Given the description of an element on the screen output the (x, y) to click on. 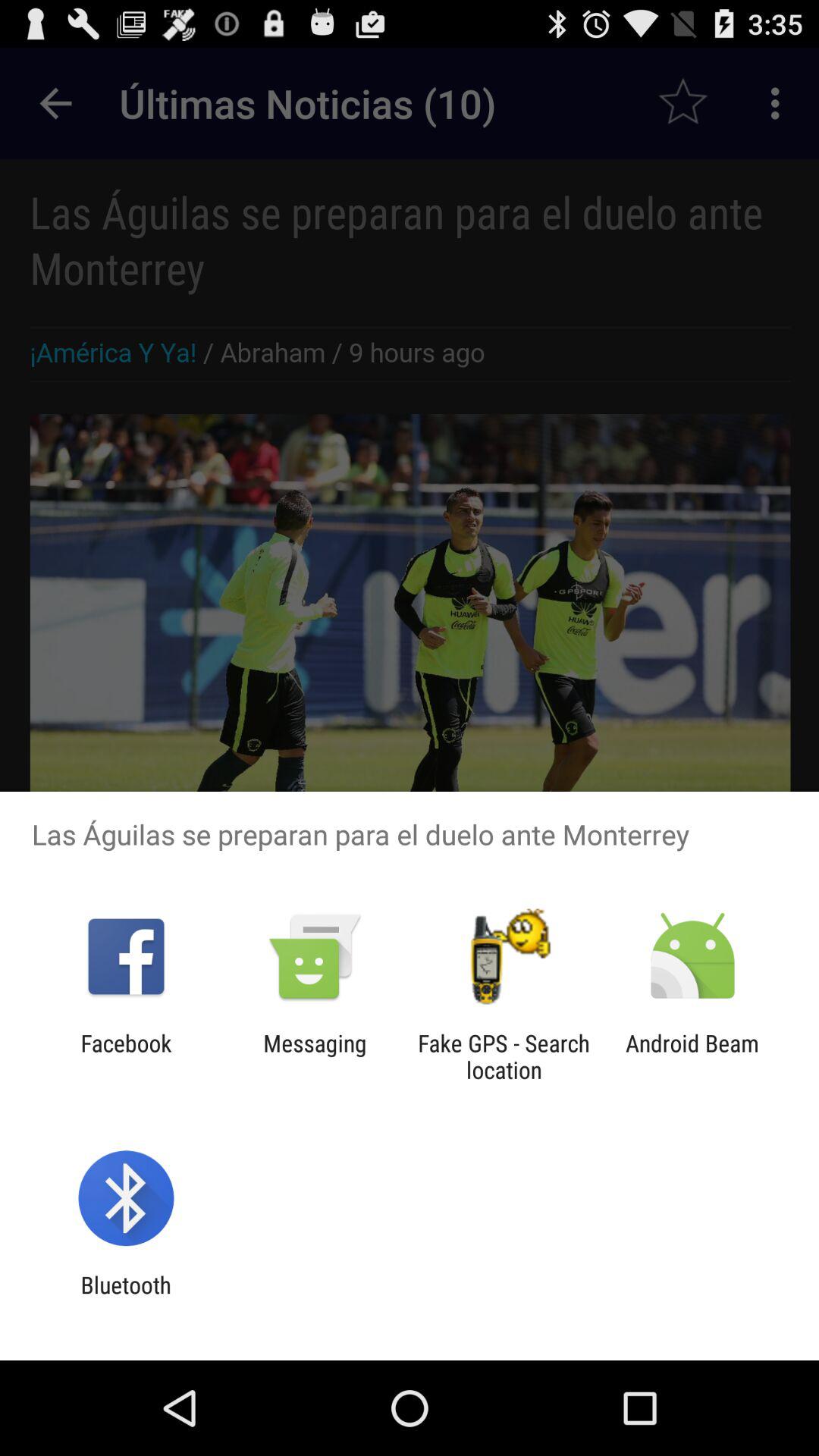
jump until android beam app (692, 1056)
